Given the description of an element on the screen output the (x, y) to click on. 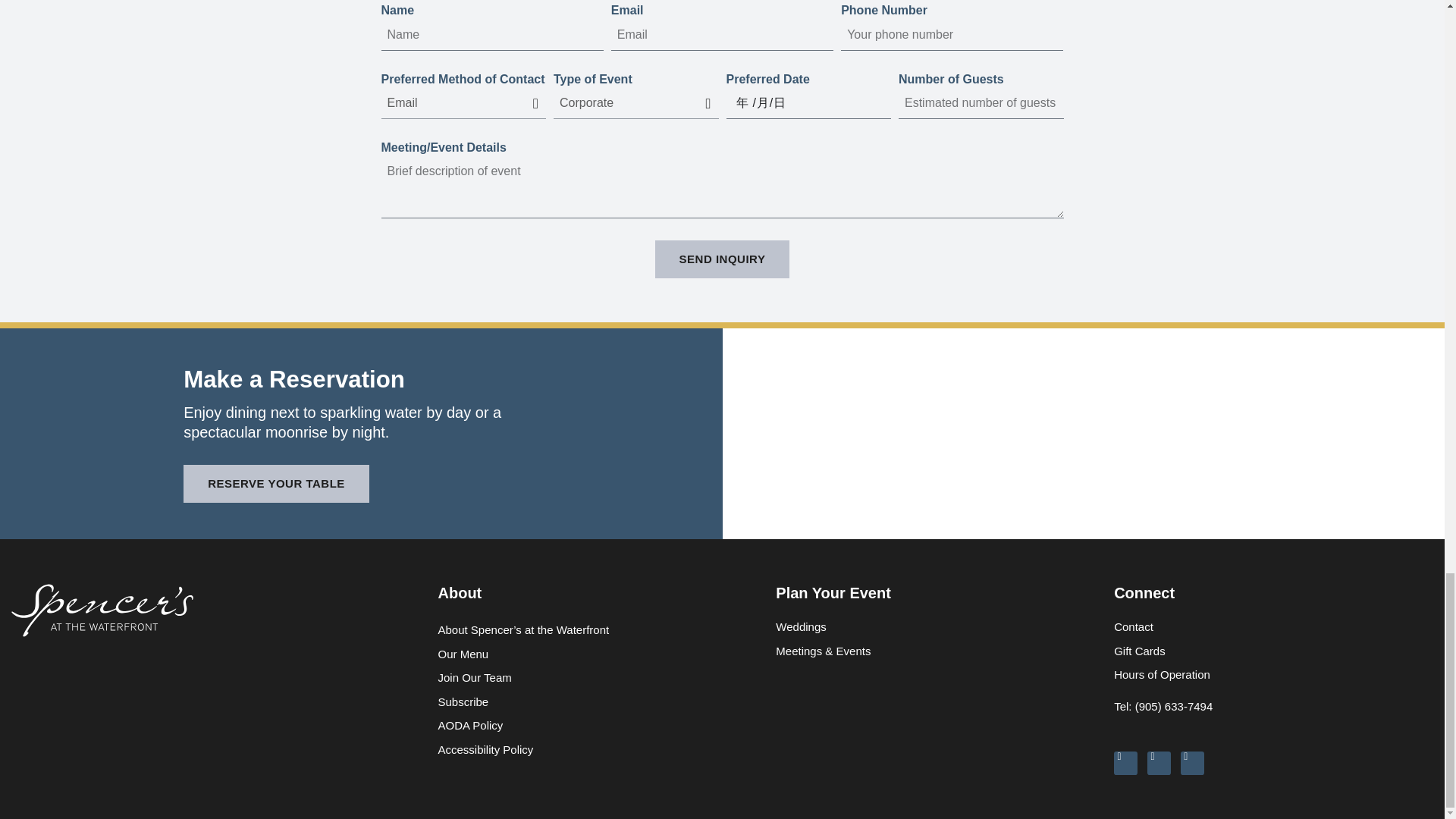
Our Menu (599, 654)
Accessibility Policy (599, 750)
RESERVE YOUR TABLE (276, 483)
AODA Policy (599, 725)
Join Our Team (599, 678)
SEND INQUIRY (722, 259)
Weddings (937, 627)
Gift Cards (1275, 651)
Contact (1275, 627)
Hours of Operation (1275, 674)
